Given the description of an element on the screen output the (x, y) to click on. 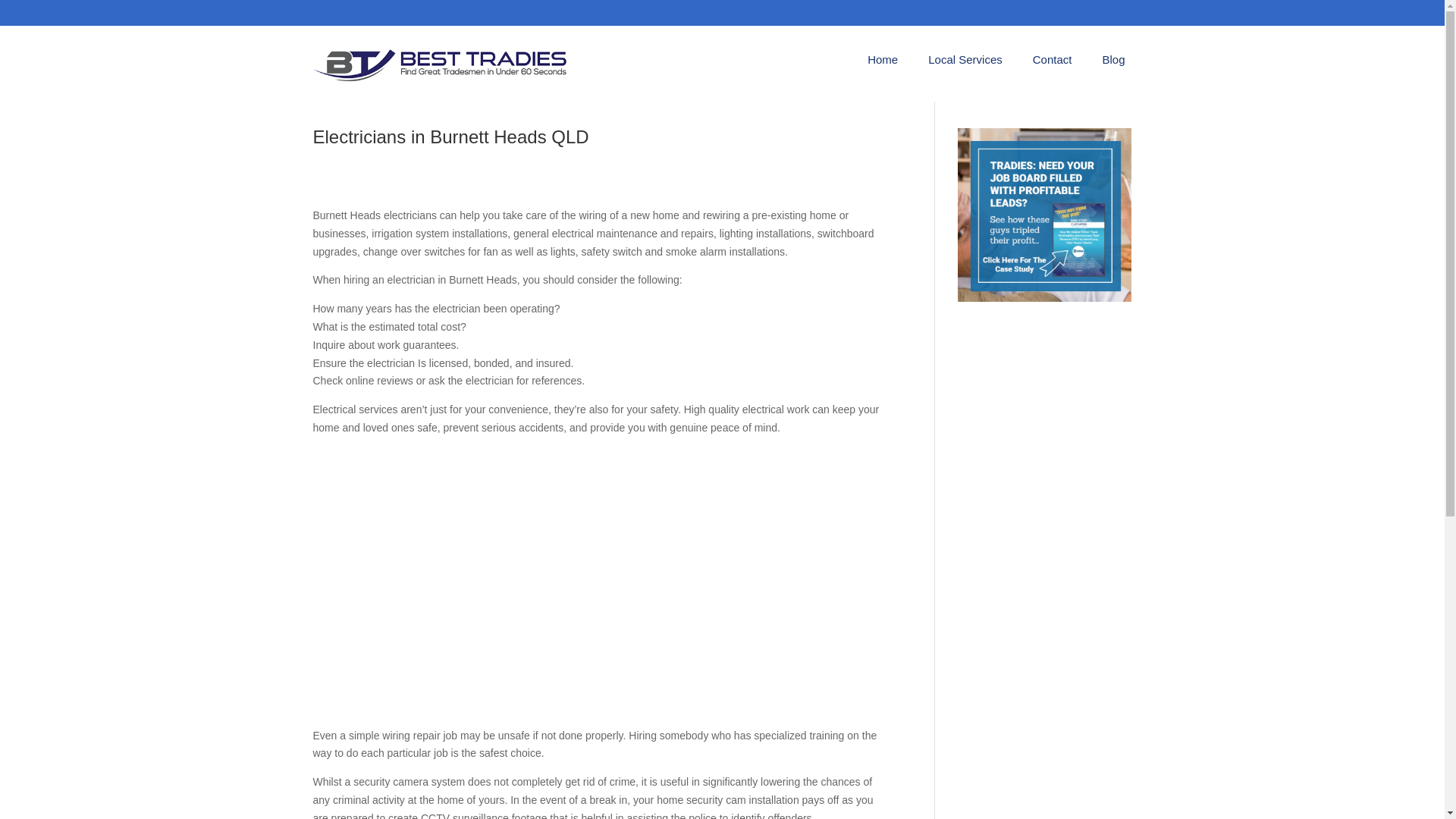
Blog (1113, 62)
Home (882, 62)
Contact (1051, 62)
logo (441, 63)
Local Services (965, 62)
